Given the description of an element on the screen output the (x, y) to click on. 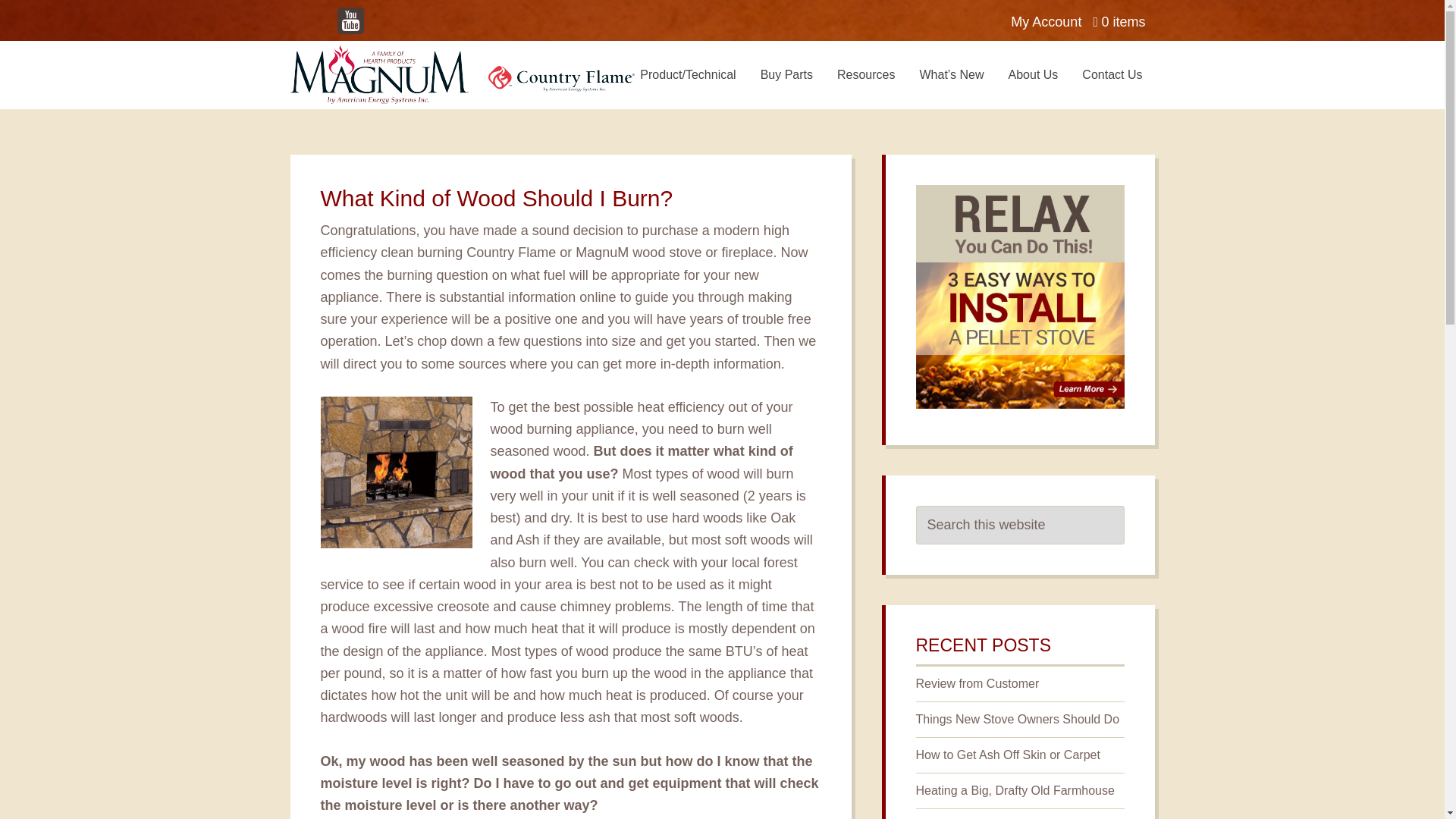
0 items (1118, 17)
Heating a Big, Drafty Old Farmhouse (1015, 789)
YouTube (351, 20)
 MAGNUM HEAT (461, 74)
Things New Stove Owners Should Do (1017, 718)
Resources (866, 74)
Review from Customer (977, 683)
